Given the description of an element on the screen output the (x, y) to click on. 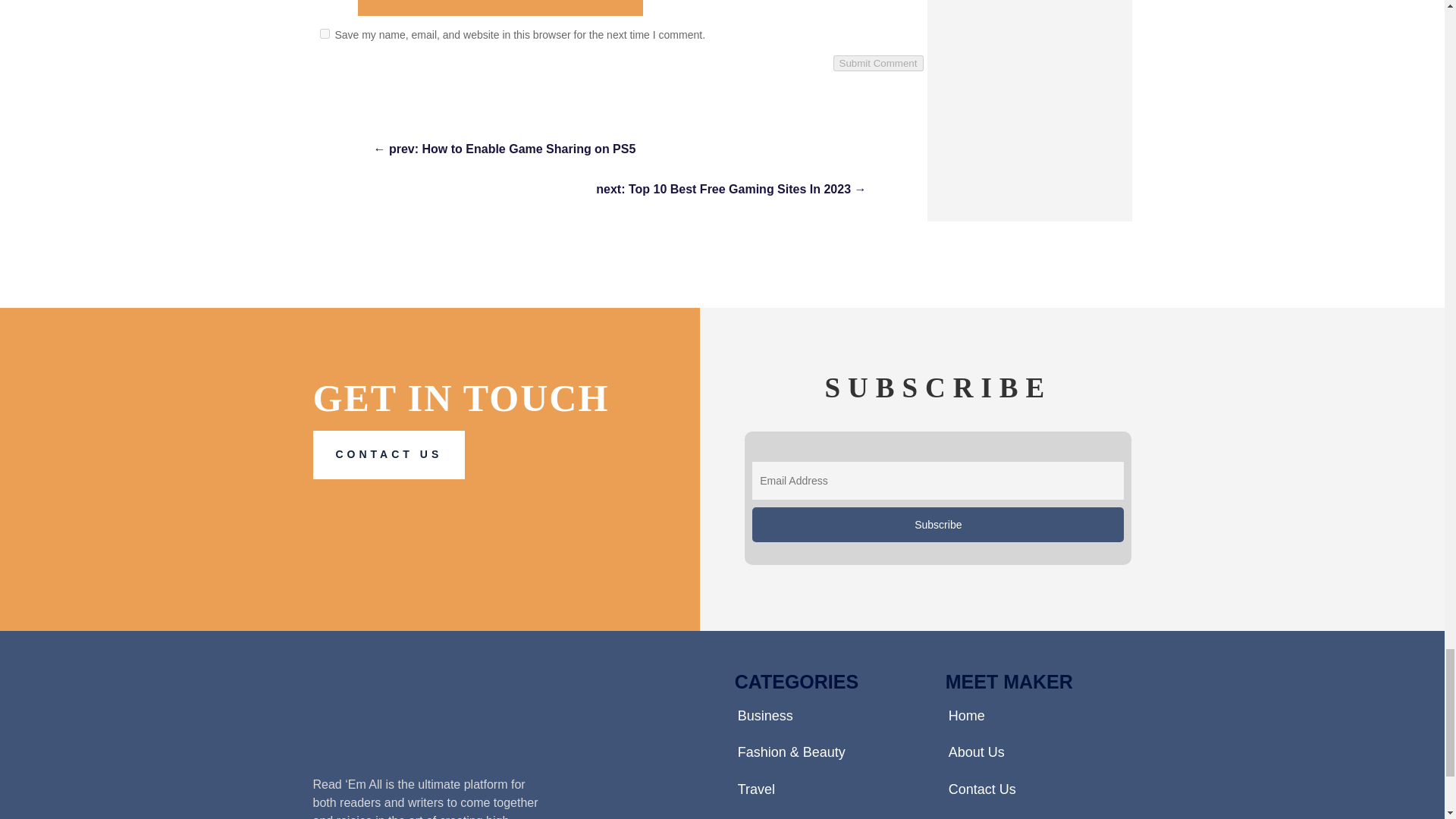
yes (325, 33)
Subscribe (938, 524)
